Given the description of an element on the screen output the (x, y) to click on. 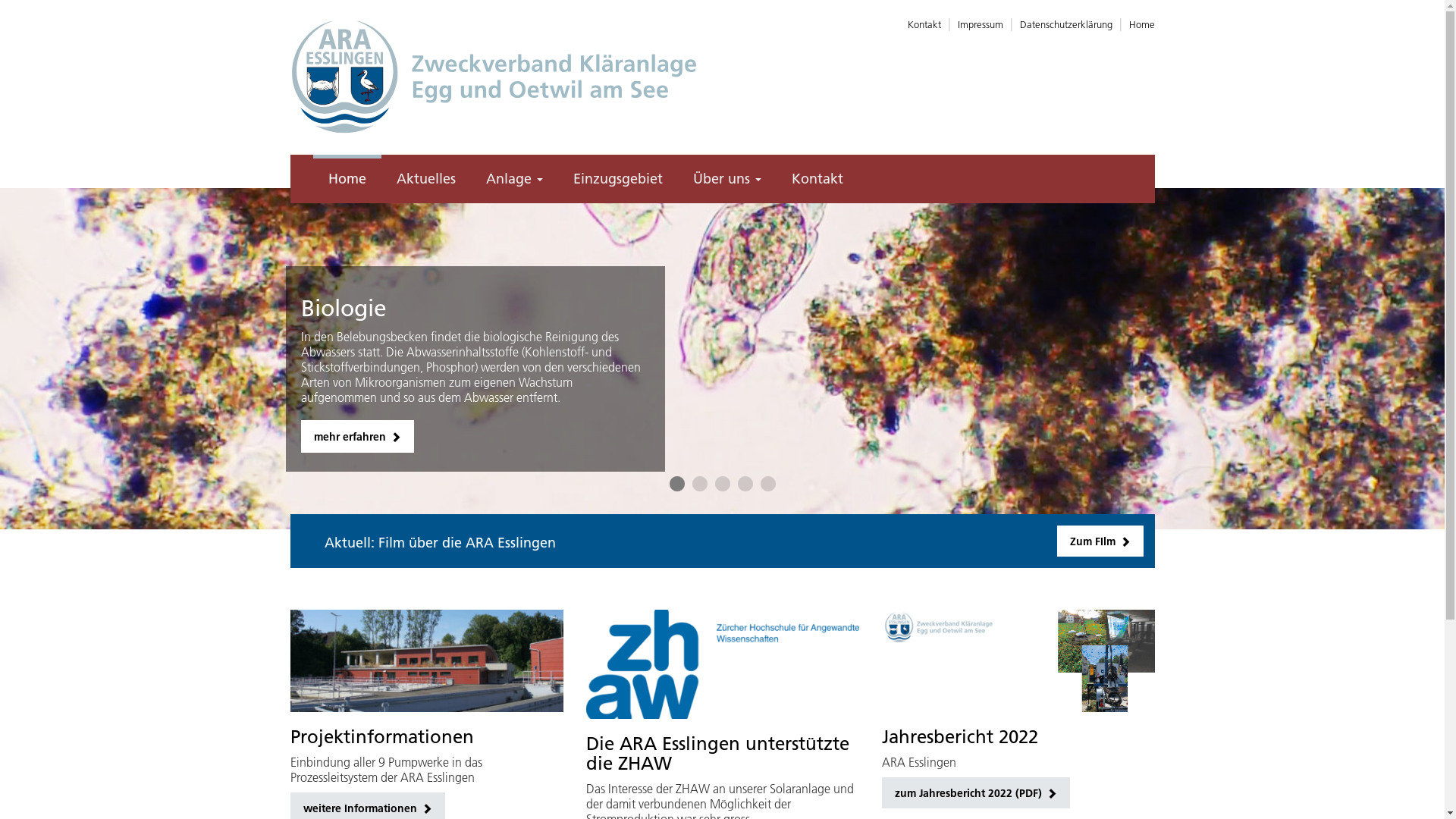
Anlage Element type: text (513, 178)
mehr erfahren Element type: text (356, 436)
Kontakt Element type: text (817, 178)
Kontakt Element type: text (923, 24)
Einzugsgebiet Element type: text (617, 178)
zum Jahresbericht 2022 (PDF) Element type: text (975, 792)
ara-heute Element type: hover (425, 660)
Home Element type: text (346, 178)
zhaw Element type: hover (721, 663)
Jahresbericht_2022 Element type: hover (1017, 660)
Impressum Element type: text (979, 24)
Aktuelles Element type: text (425, 178)
Home Element type: text (1141, 24)
Zum FIlm Element type: text (1100, 540)
